Given the description of an element on the screen output the (x, y) to click on. 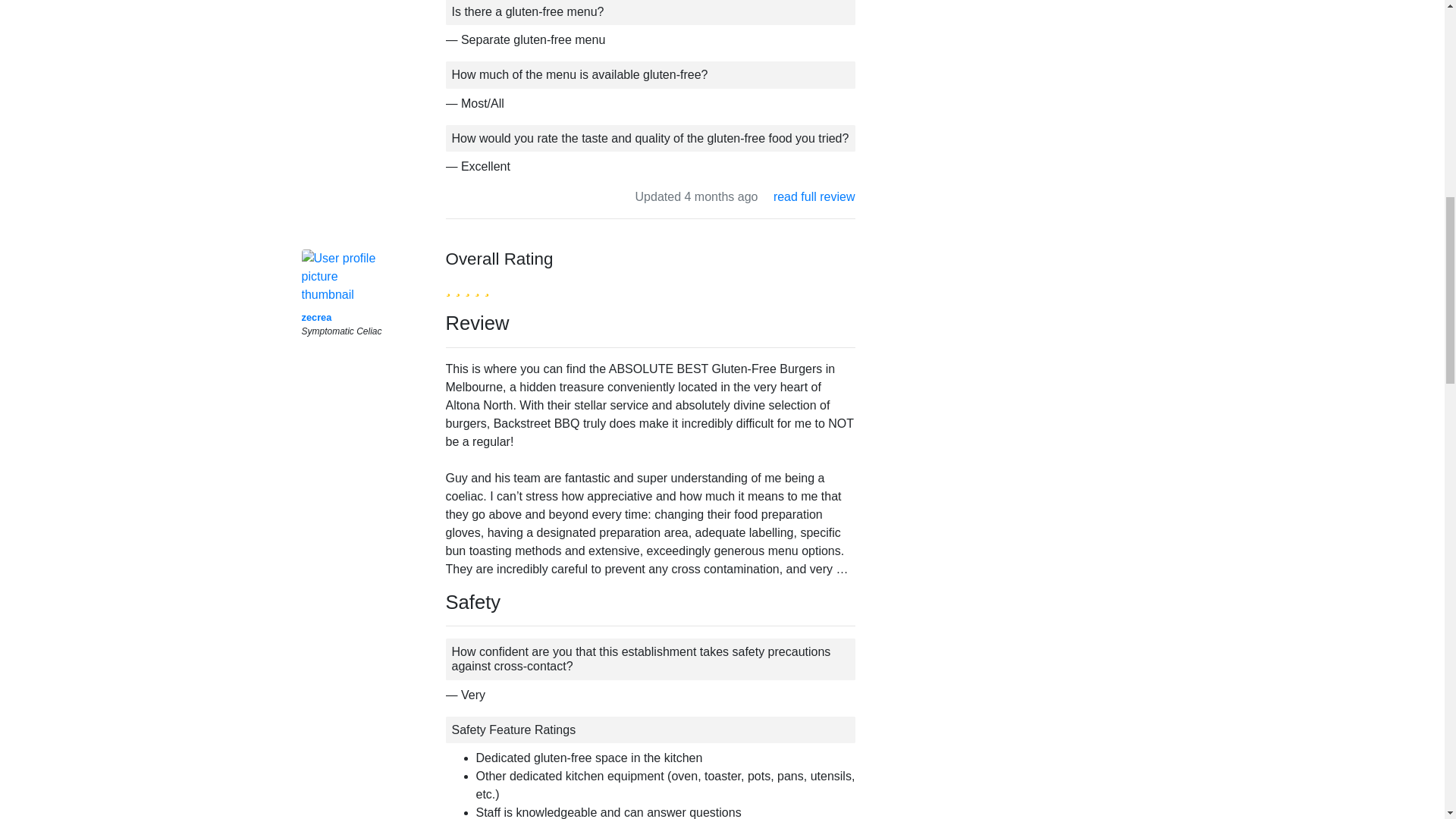
read full review (814, 196)
5 star rating (467, 287)
zecrea (316, 317)
